Given the description of an element on the screen output the (x, y) to click on. 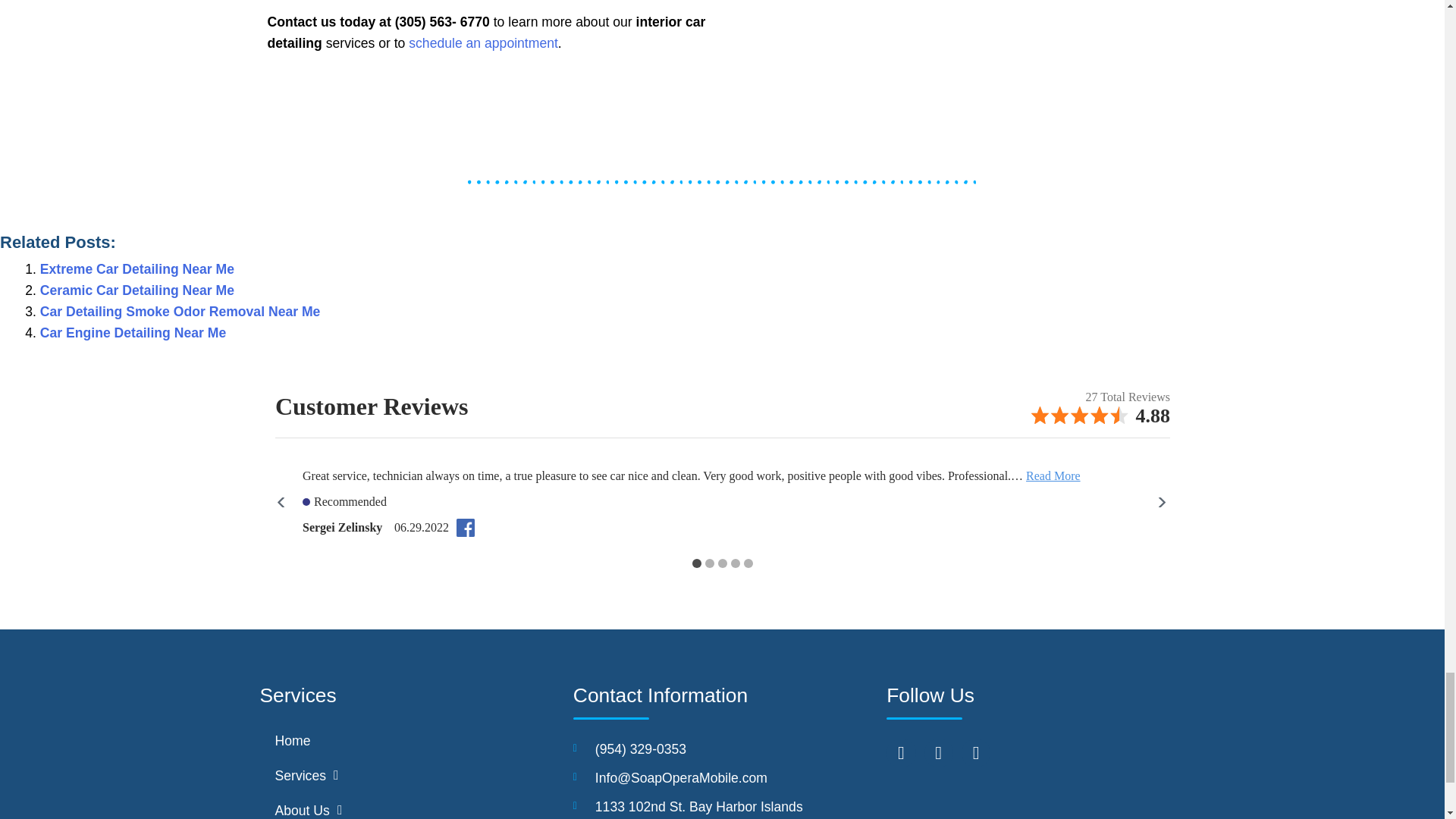
Ceramic Car Detailing Near Me (137, 290)
schedule an appointment (483, 43)
Car Engine Detailing Near Me (132, 332)
Car Detailing Smoke Odor Removal Near Me (180, 311)
Car Engine Detailing Near Me (132, 332)
Car Detailing Smoke Odor Removal Near Me (180, 311)
Ceramic Car Detailing Near Me (137, 290)
Extreme Car Detailing Near Me (137, 268)
Extreme Car Detailing Near Me (137, 268)
